Given the description of an element on the screen output the (x, y) to click on. 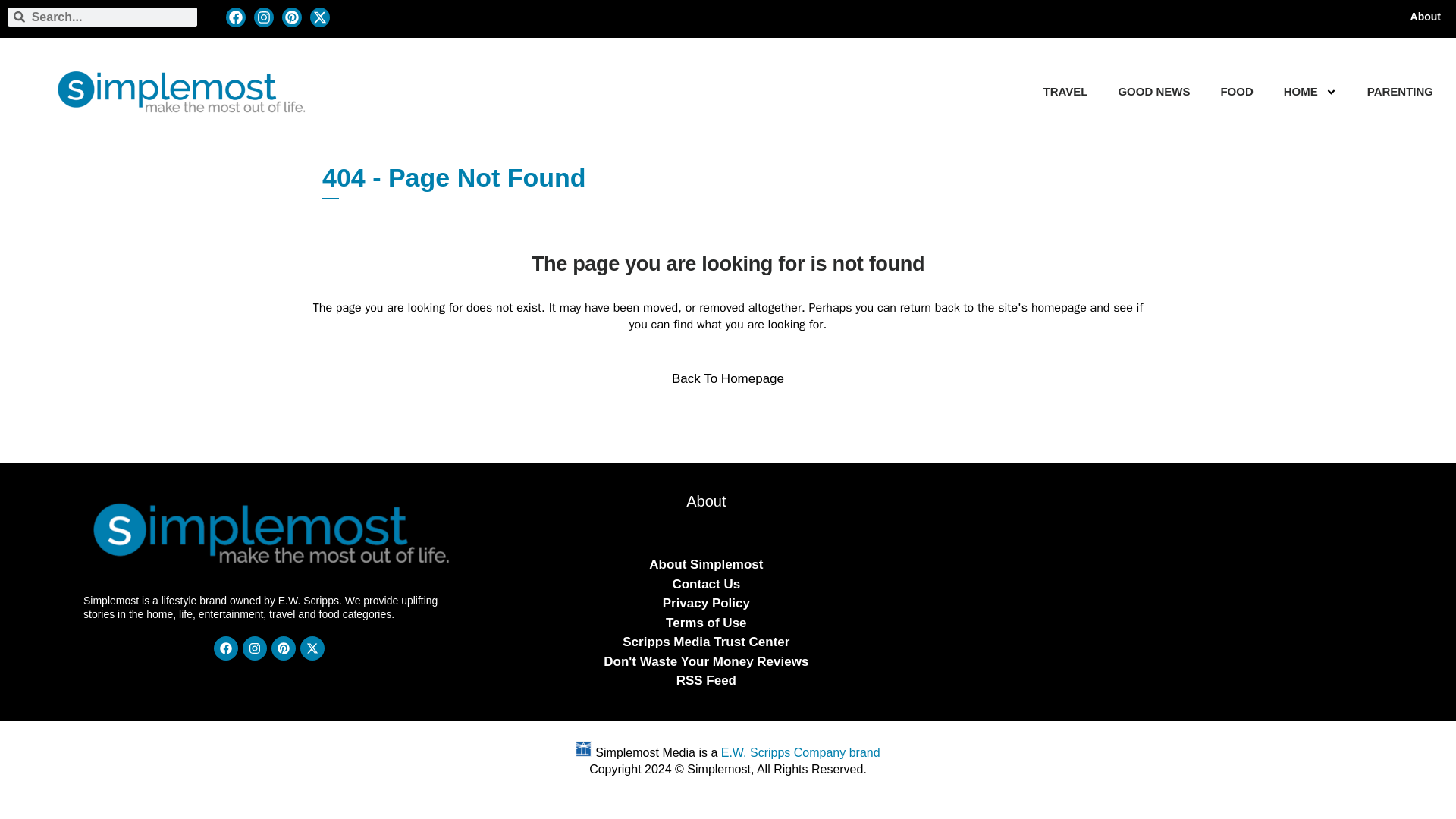
About (1425, 16)
Privacy Policy (705, 602)
RSS Feed (706, 680)
Contact Us (705, 584)
PARENTING (1399, 91)
Don't Waste Your Money Reviews (706, 661)
E.W. Scripps Company brand (800, 752)
Back To Homepage (727, 379)
Terms of Use (705, 622)
FOOD (1236, 91)
